Given the description of an element on the screen output the (x, y) to click on. 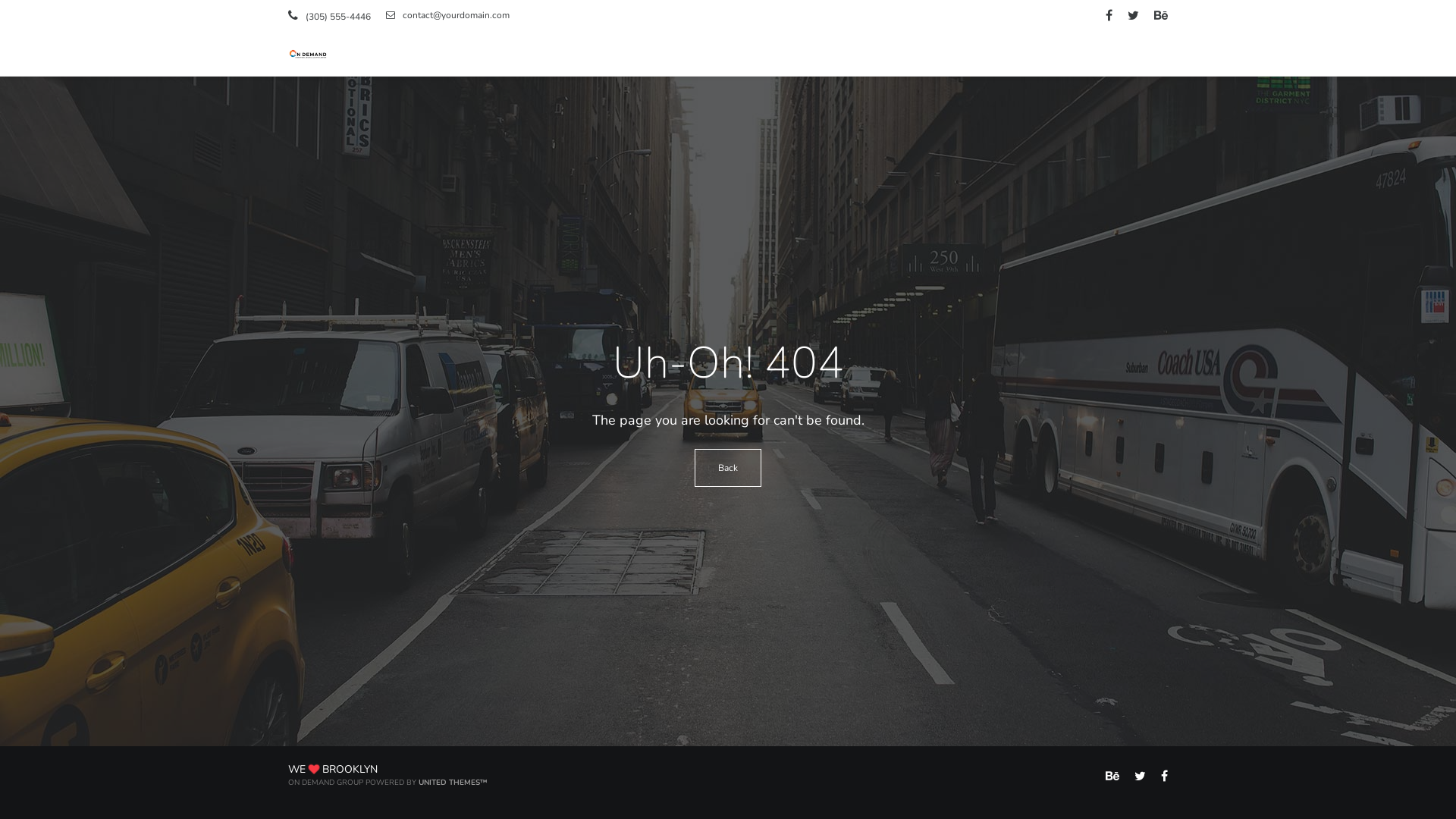
contact@yourdomain.com Element type: text (447, 15)
Back Element type: text (727, 467)
